Given the description of an element on the screen output the (x, y) to click on. 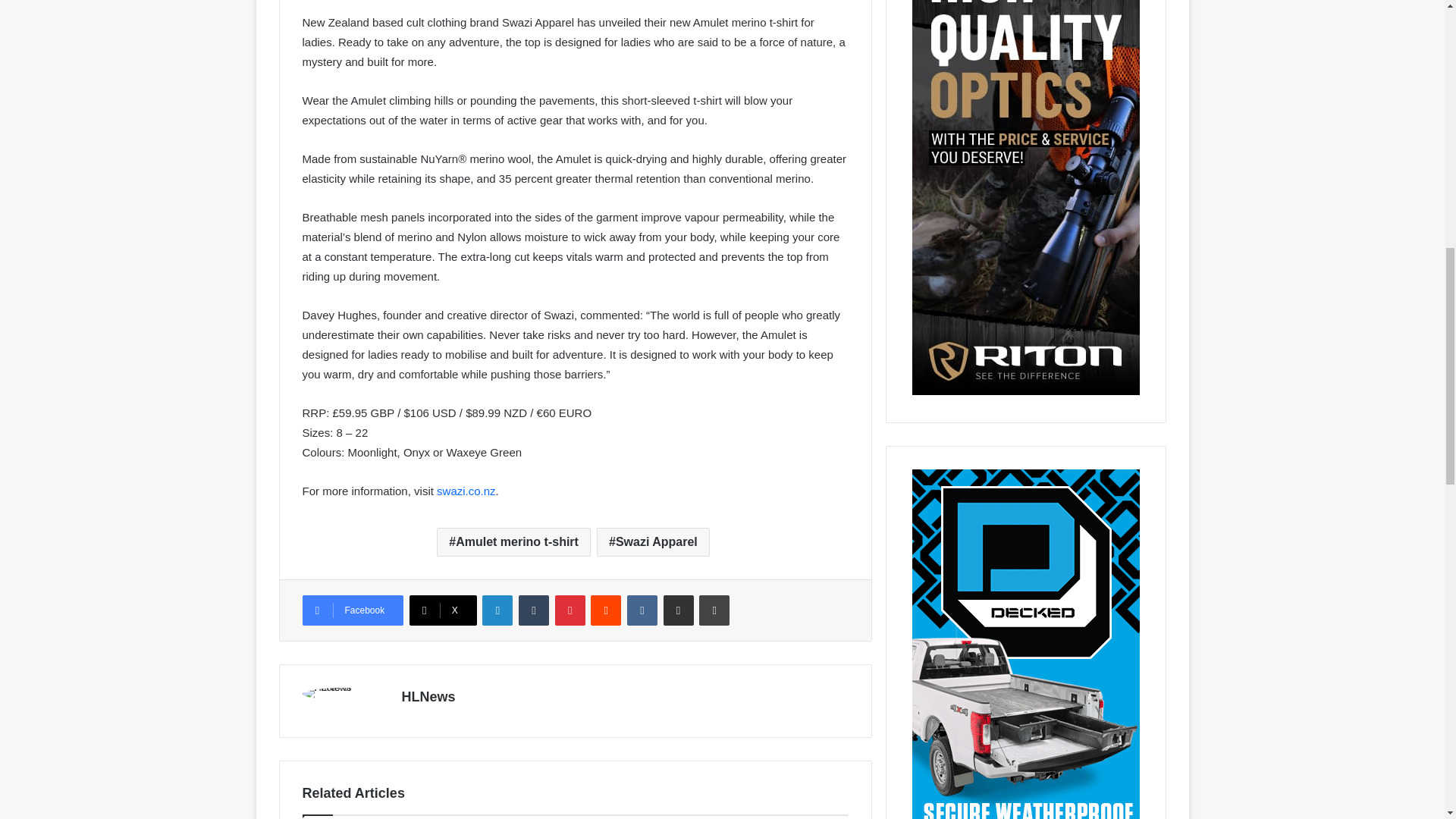
X (443, 610)
Tumblr (533, 610)
Print (713, 610)
VKontakte (642, 610)
Pinterest (569, 610)
swazi.co.nz (466, 490)
LinkedIn (496, 610)
Facebook (352, 610)
Reddit (606, 610)
Share via Email (678, 610)
